Given the description of an element on the screen output the (x, y) to click on. 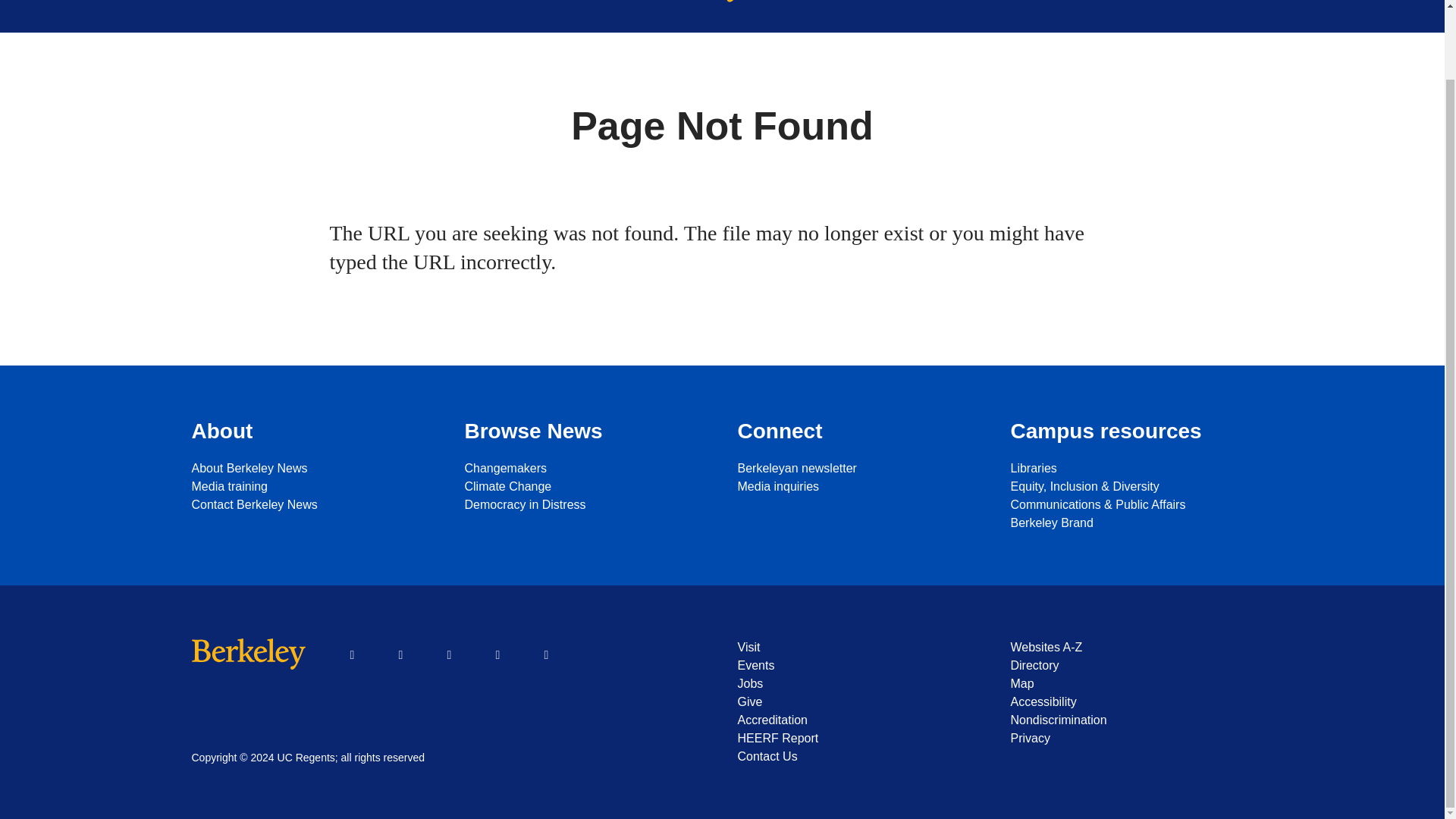
Accreditation (857, 720)
Jobs (857, 683)
About Berkeley News (311, 468)
Visit (857, 647)
YouTube (448, 654)
Websites A-Z (1131, 647)
Berkeley Brand (1131, 523)
Libraries (1131, 468)
Give (857, 701)
Media training (311, 486)
Privacy (1131, 738)
X (400, 654)
Events (857, 665)
HEERF Report (857, 738)
Instagram (496, 654)
